Given the description of an element on the screen output the (x, y) to click on. 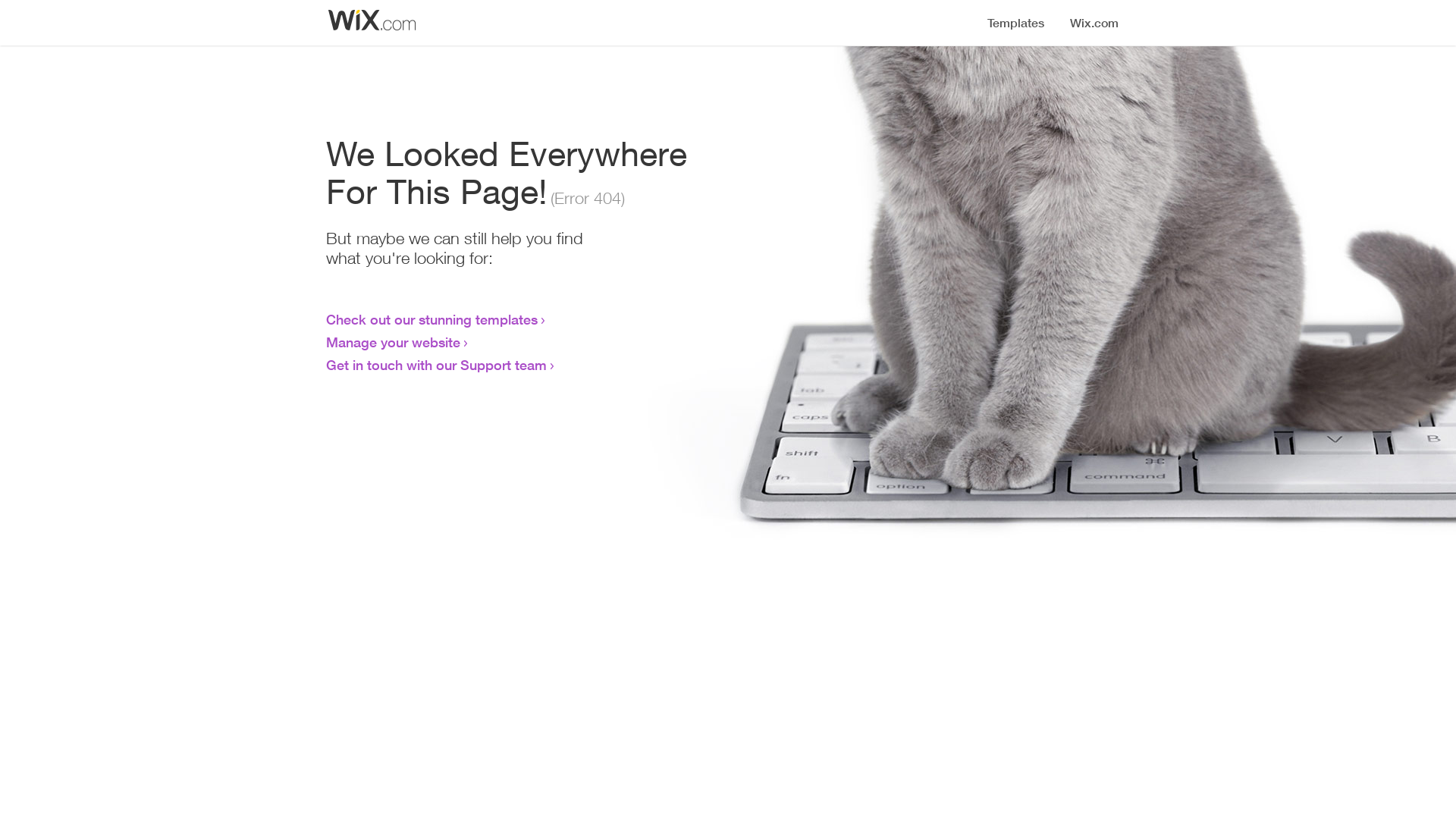
Get in touch with our Support team Element type: text (436, 364)
Manage your website Element type: text (393, 341)
Check out our stunning templates Element type: text (431, 318)
